Given the description of an element on the screen output the (x, y) to click on. 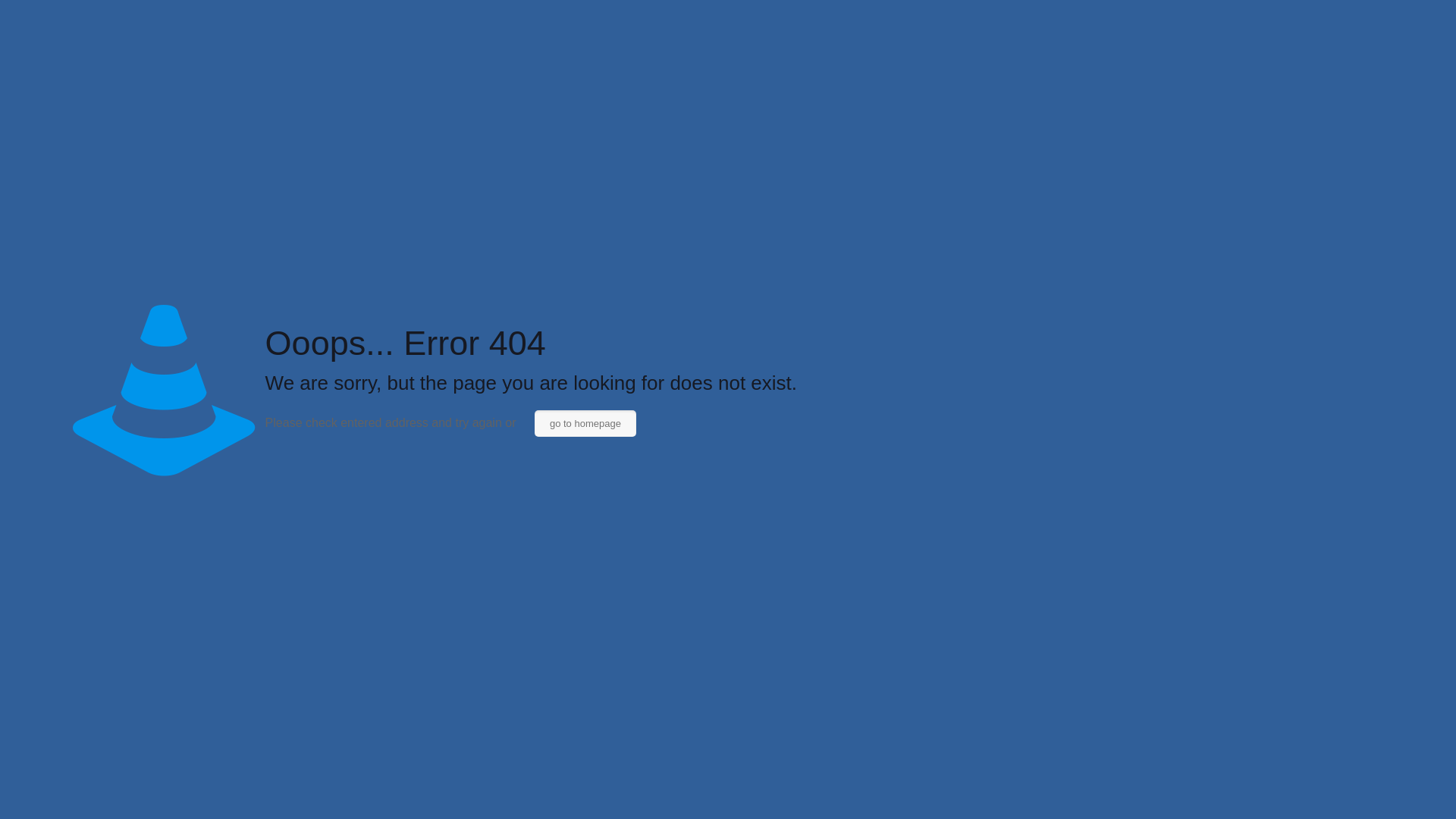
go to homepage Element type: text (585, 423)
